Given the description of an element on the screen output the (x, y) to click on. 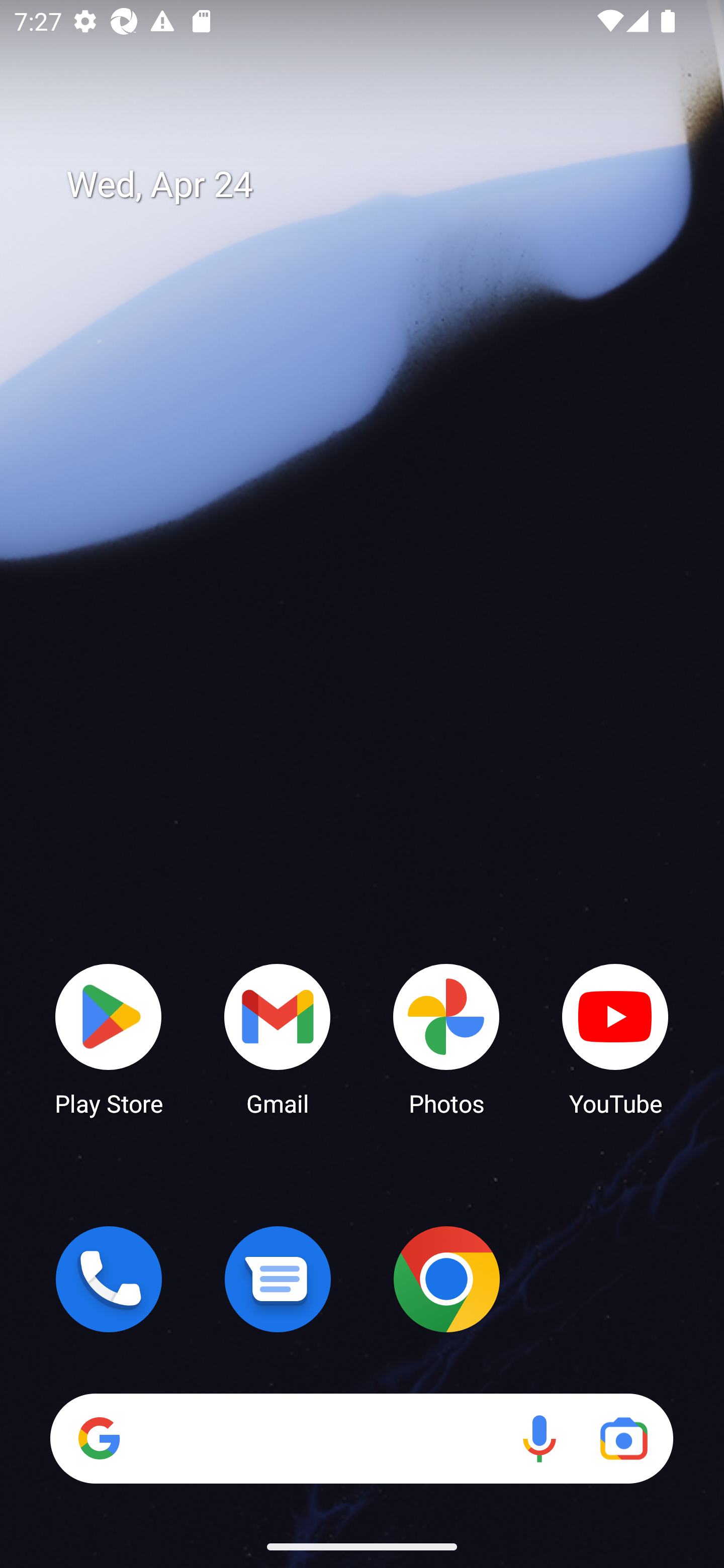
Wed, Apr 24 (375, 184)
Play Store (108, 1038)
Gmail (277, 1038)
Photos (445, 1038)
YouTube (615, 1038)
Phone (108, 1279)
Messages (277, 1279)
Chrome (446, 1279)
Search Voice search Google Lens (361, 1438)
Voice search (539, 1438)
Google Lens (623, 1438)
